Given the description of an element on the screen output the (x, y) to click on. 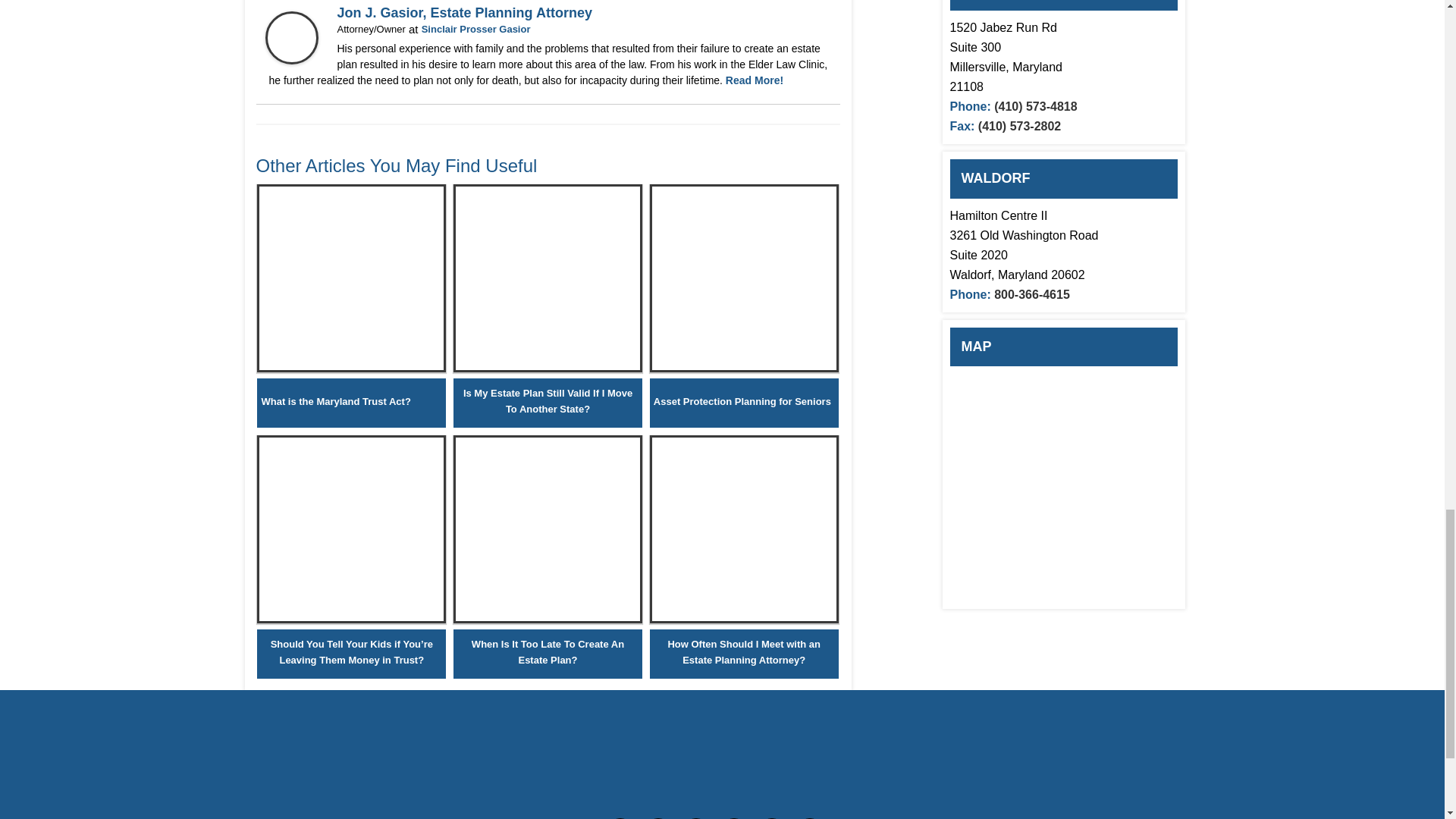
What is the Maryland Trust Act? (351, 367)
When Is It Too Late To Create An Estate Plan? (547, 618)
When Is It Too Late To Create An Estate Plan? (548, 652)
Jon J. Gasior, Estate Planning Attorney (300, 60)
Asset Protection Planning for Seniors (743, 367)
Is My Estate Plan Still Valid If I Move To Another State? (548, 400)
How Often Should I Meet with an Estate Planning Attorney? (743, 618)
Is My Estate Plan Still Valid If I Move To Another State? (547, 367)
What is the Maryland Trust Act? (335, 401)
Asset Protection Planning for Seniors (742, 401)
